Given the description of an element on the screen output the (x, y) to click on. 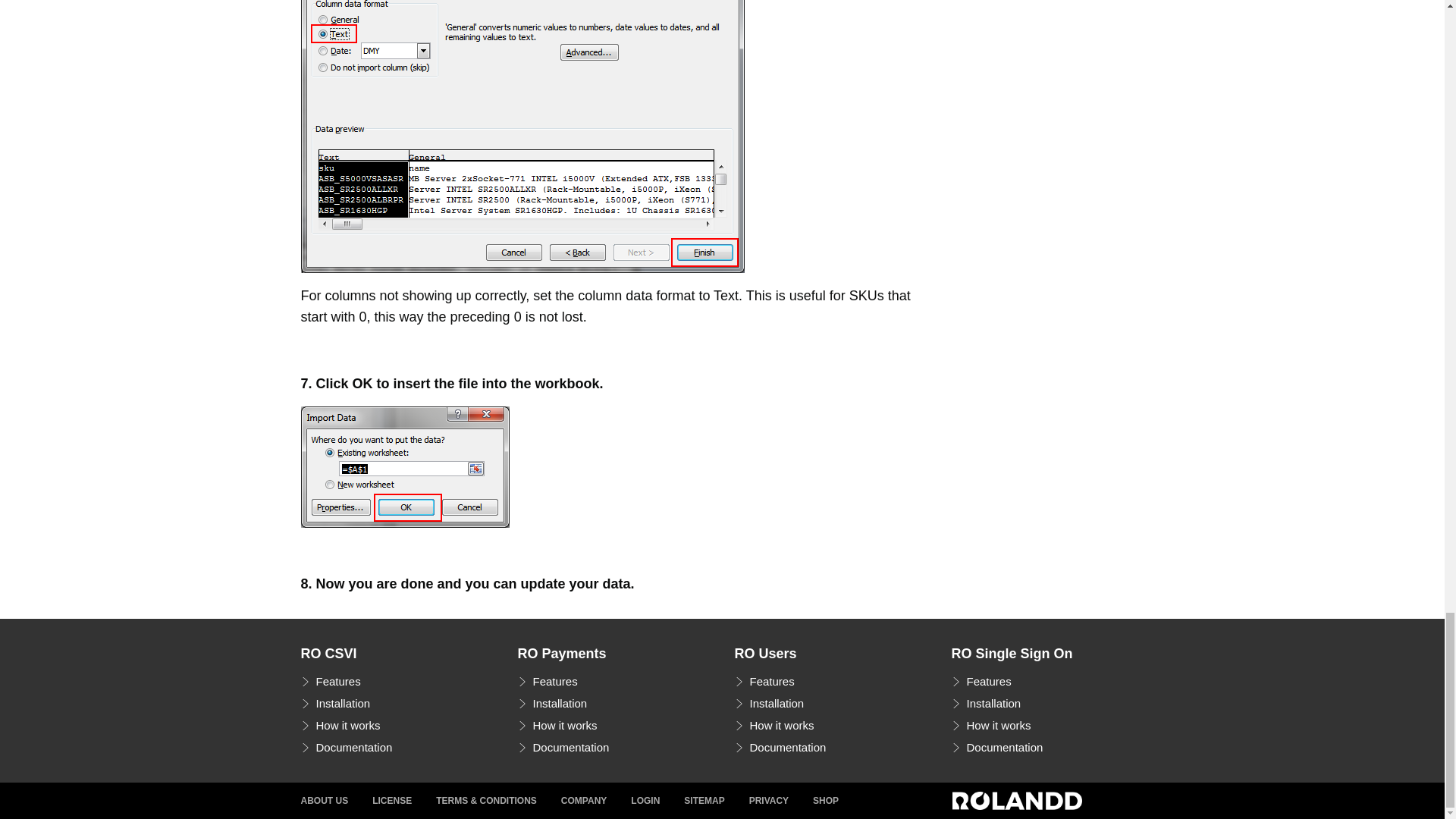
How it works (339, 725)
Installation (768, 703)
How it works (556, 725)
Features (546, 681)
COMPANY (583, 800)
ABOUT US (323, 800)
Features (763, 681)
How it works (773, 725)
Installation (334, 703)
Features (980, 681)
Documentation (345, 747)
Installation (985, 703)
LOGIN (644, 800)
Open CSV with Excel 7 (403, 466)
Open CSV with Excel 6 (521, 136)
